Given the description of an element on the screen output the (x, y) to click on. 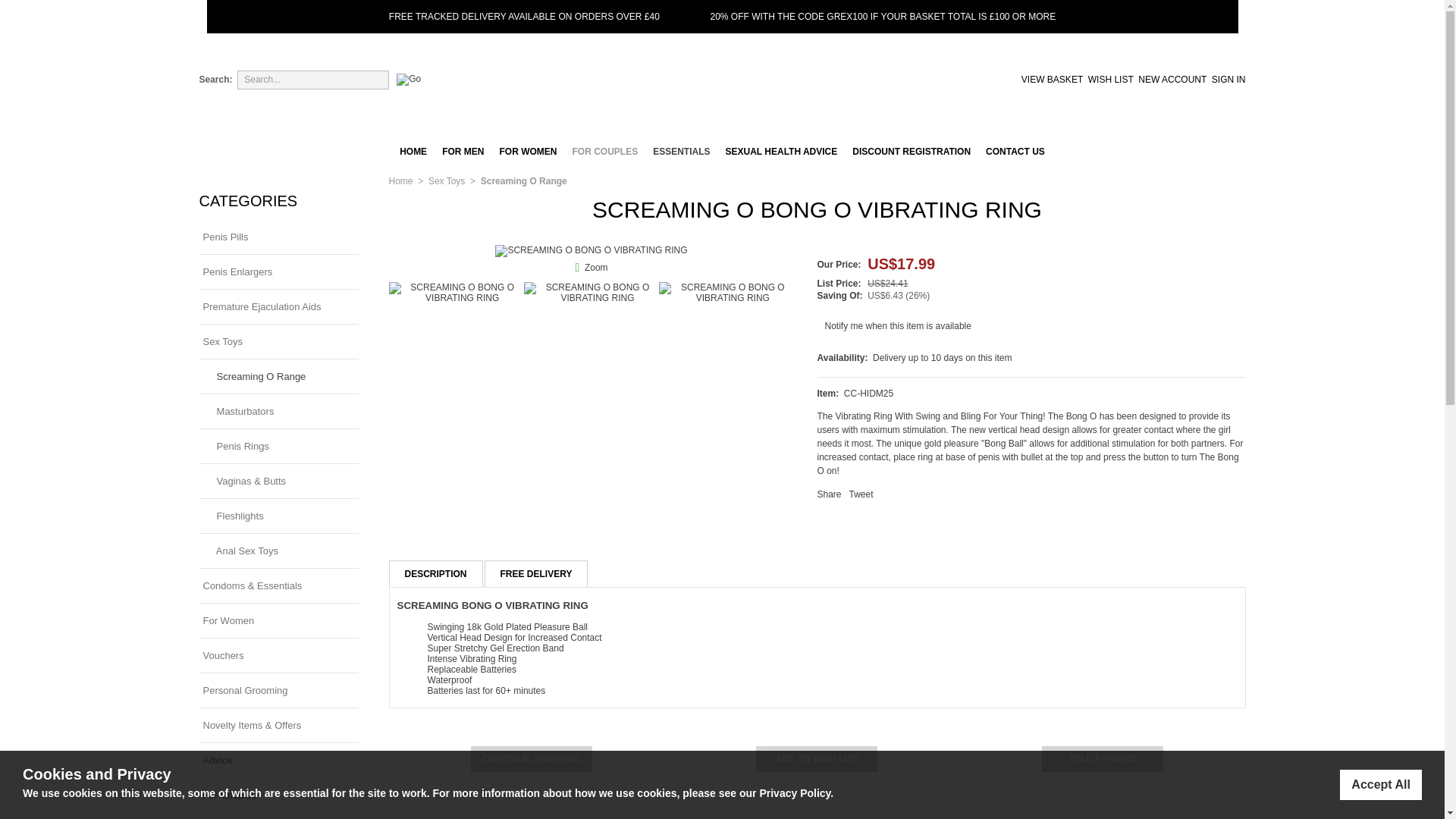
Vouchers (278, 655)
For Women (278, 620)
Go (408, 79)
CONTINUE SHOPPING (531, 759)
Penis Enlargers (278, 271)
SCREAMING O BONG O VIBRATING RING (596, 267)
Zoom (591, 250)
Sex Toys (278, 341)
DESCRIPTION (435, 574)
     Anal Sex Toys (278, 550)
     Masturbators (278, 411)
Home (400, 181)
Advice (278, 760)
Erection Boosters, Creams, Sprays and Toys (462, 151)
Notify me when this item is available (898, 326)
